Given the description of an element on the screen output the (x, y) to click on. 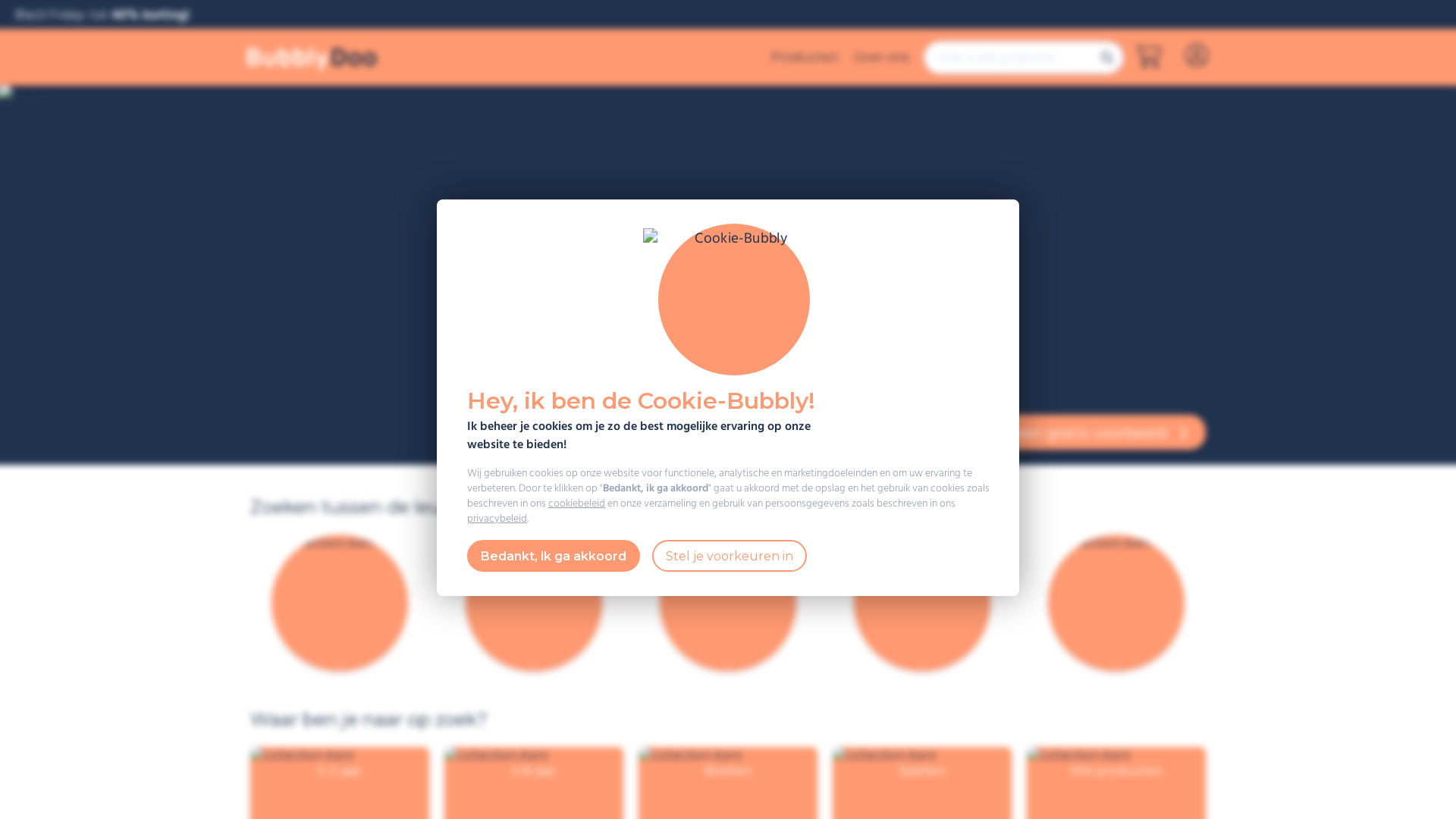
Stel je voorkeuren in Element type: text (729, 555)
Bedankt, ik ga akkoord Element type: text (553, 555)
Producten Element type: text (804, 57)
Maak een gratis voorbeeld Element type: text (1081, 431)
Over ons Element type: text (880, 57)
cookiebeleid Element type: text (576, 502)
privacybeleid Element type: text (497, 518)
